Given the description of an element on the screen output the (x, y) to click on. 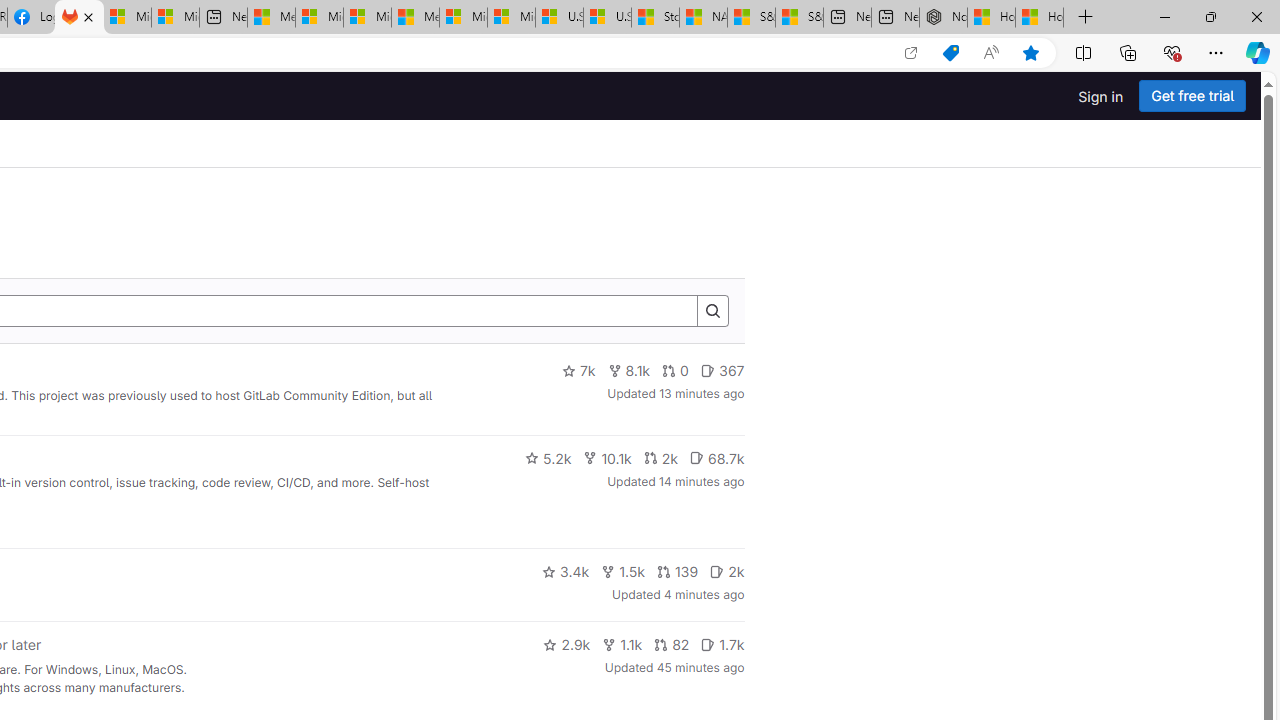
8.1k (628, 371)
0 (674, 371)
82 (671, 644)
68.7k (716, 457)
5.2k (548, 457)
Sign in (1100, 95)
1.1k (621, 644)
Sign in (1100, 95)
139 (676, 571)
367 (722, 371)
